Given the description of an element on the screen output the (x, y) to click on. 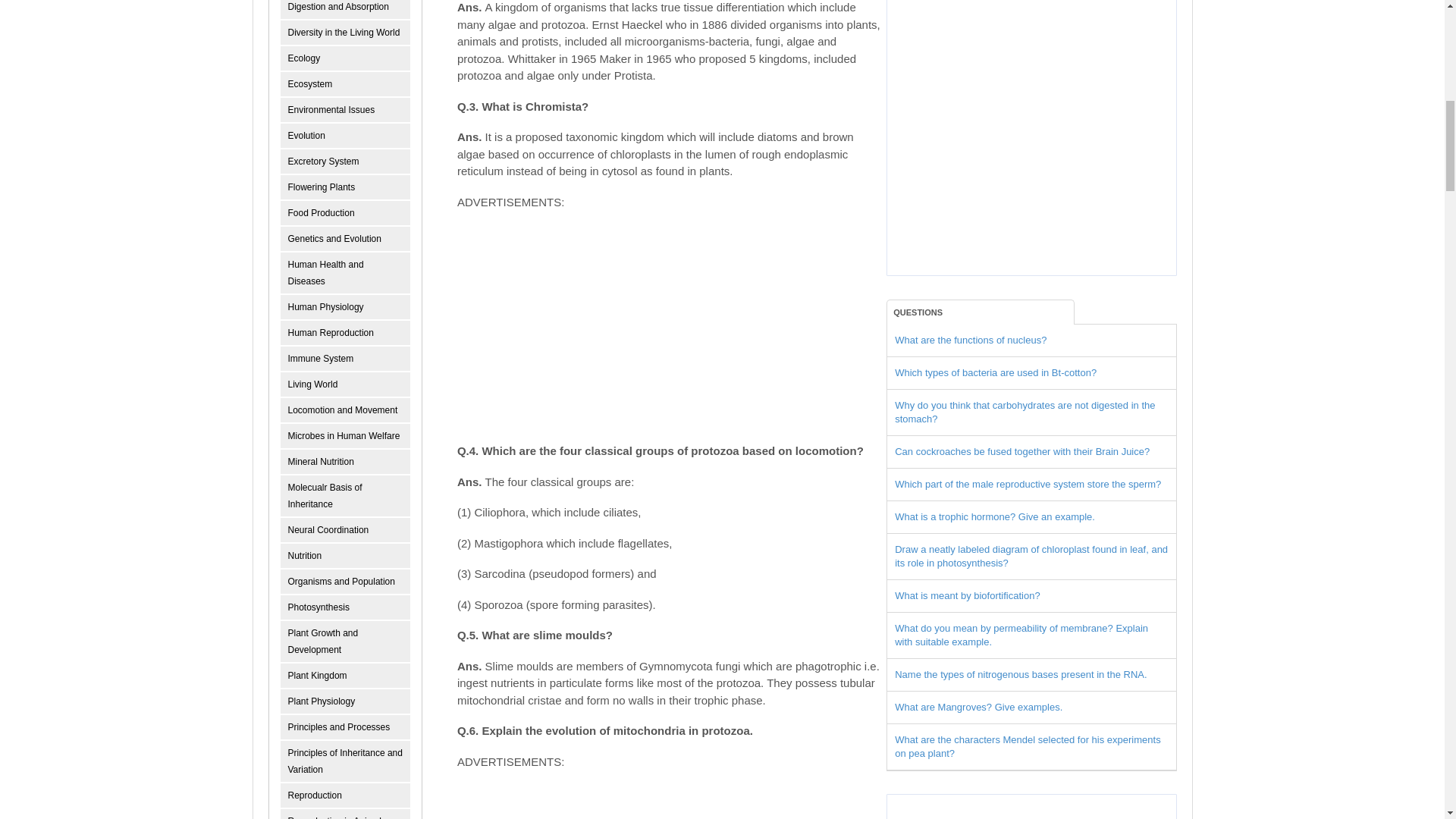
What is a trophic hormone? Give an example. (994, 516)
Can cockroaches be fused together with their Brain Juice? (1022, 451)
What are the functions of nucleus? (970, 339)
Which part of the male reproductive system store the sperm? (1027, 483)
Which types of bacteria are used in Bt-cotton? (995, 372)
